Given the description of an element on the screen output the (x, y) to click on. 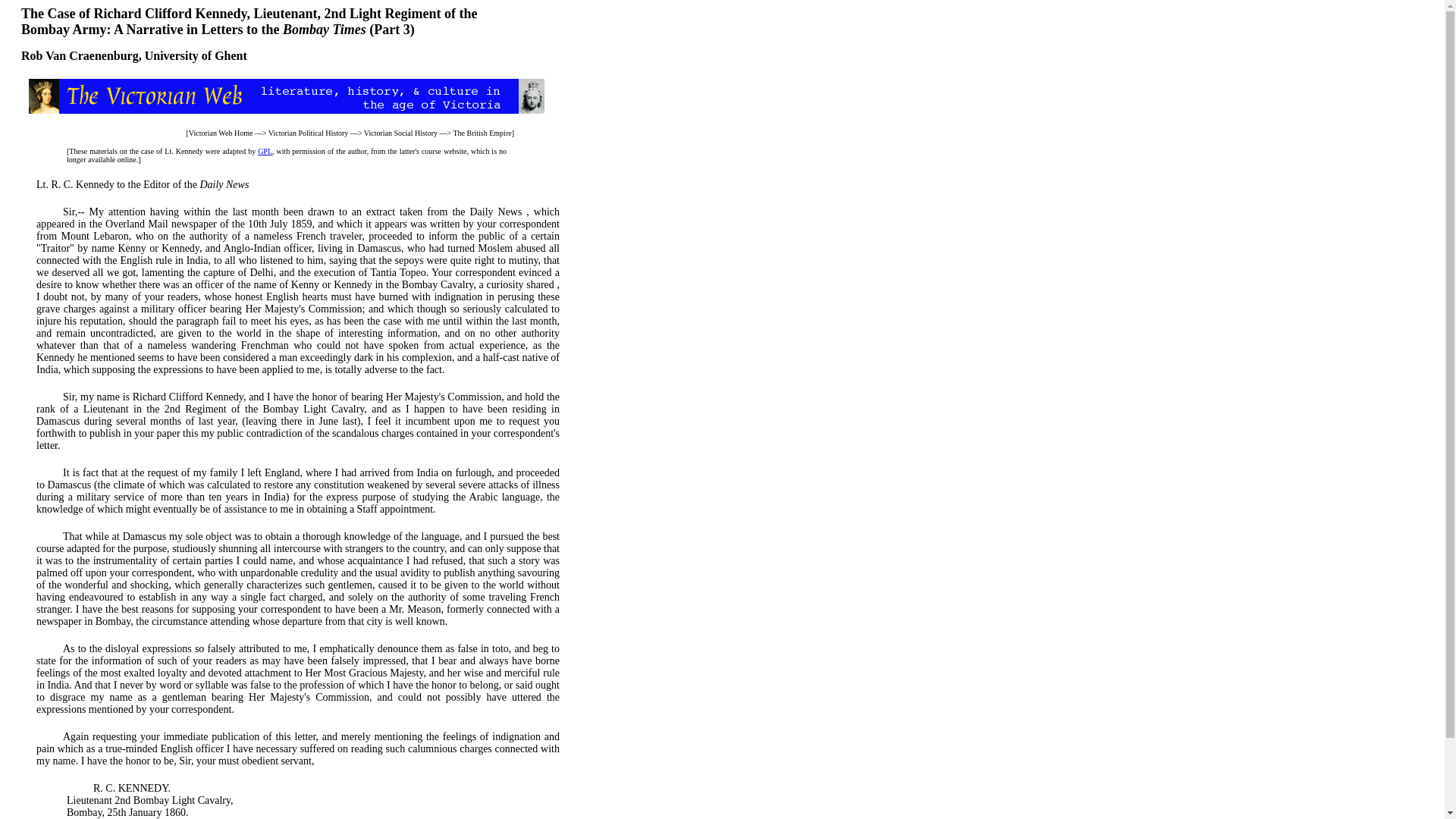
The British Empire (481, 132)
Victorian Social History (401, 132)
Victorian Web Home (221, 132)
Victorian Political History (308, 132)
GPL (264, 151)
